Given the description of an element on the screen output the (x, y) to click on. 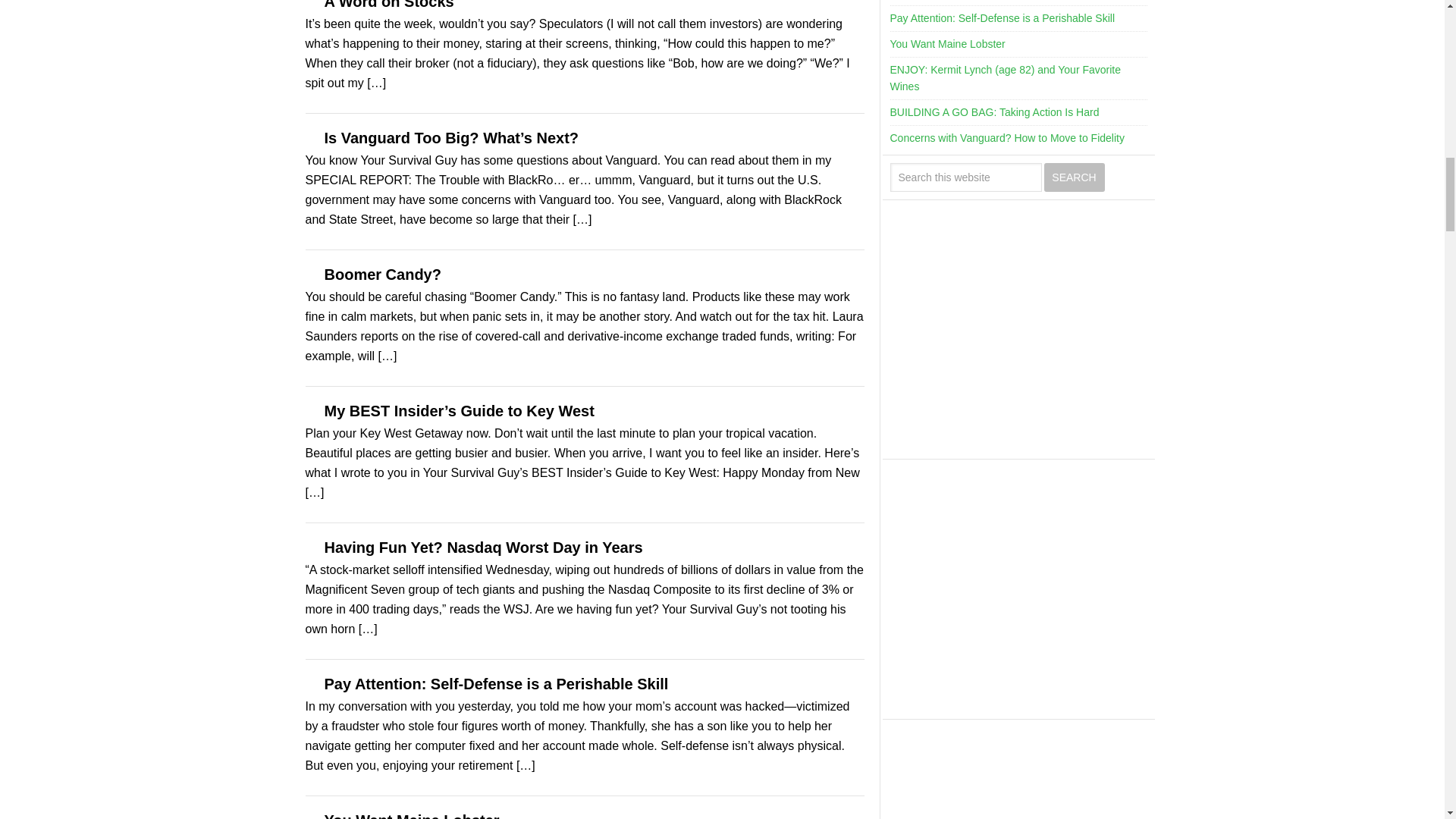
Survive and Thrive (1014, 332)
Search (1073, 176)
Search (1073, 176)
